Given the description of an element on the screen output the (x, y) to click on. 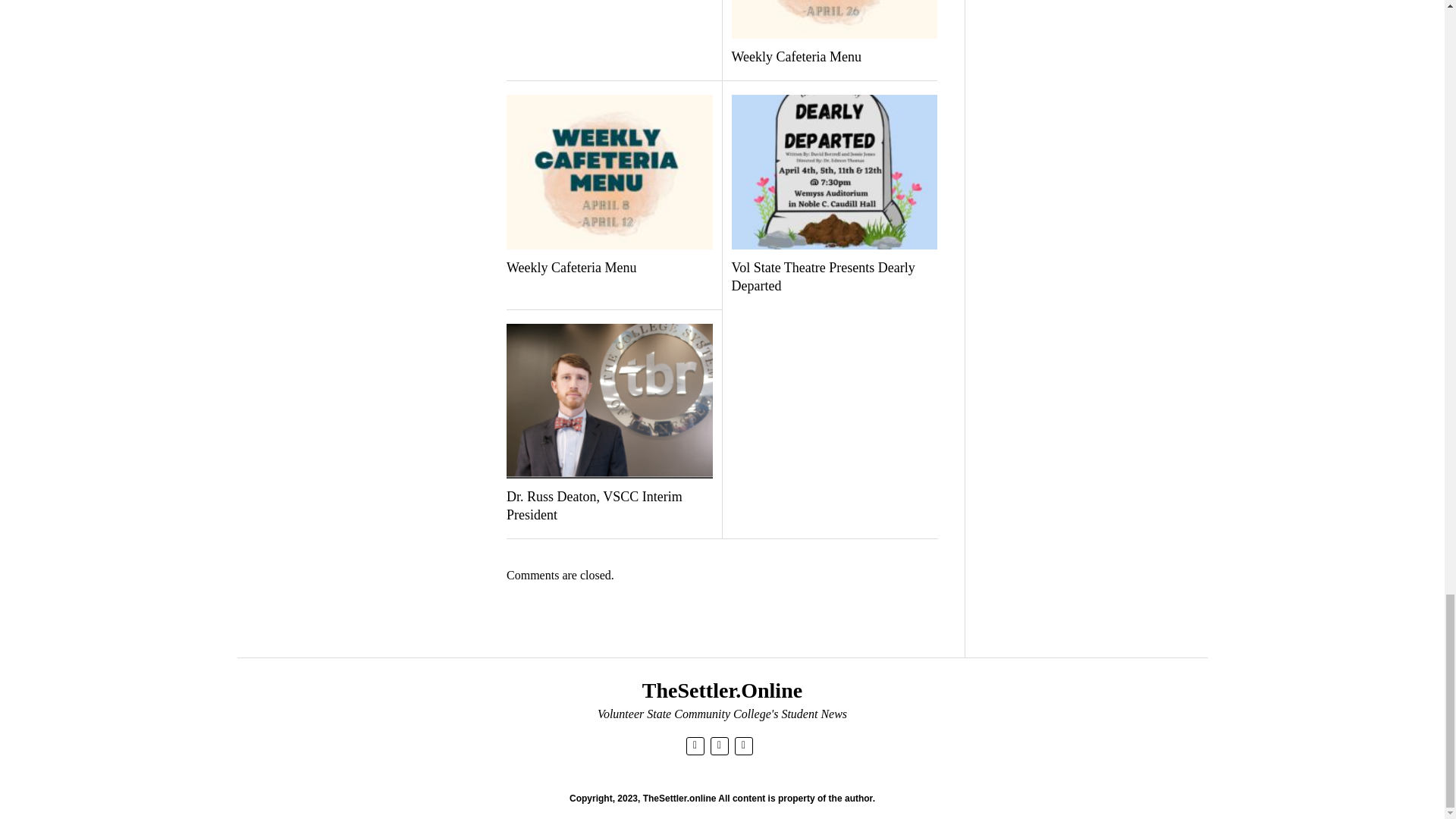
Weekly Cafeteria Menu (608, 268)
twitter (695, 745)
Weekly Cafeteria Menu (833, 57)
Vol State Theatre Presents Dearly Departed (833, 277)
rss (743, 745)
Dr. Russ Deaton, VSCC Interim President (608, 506)
